Given the description of an element on the screen output the (x, y) to click on. 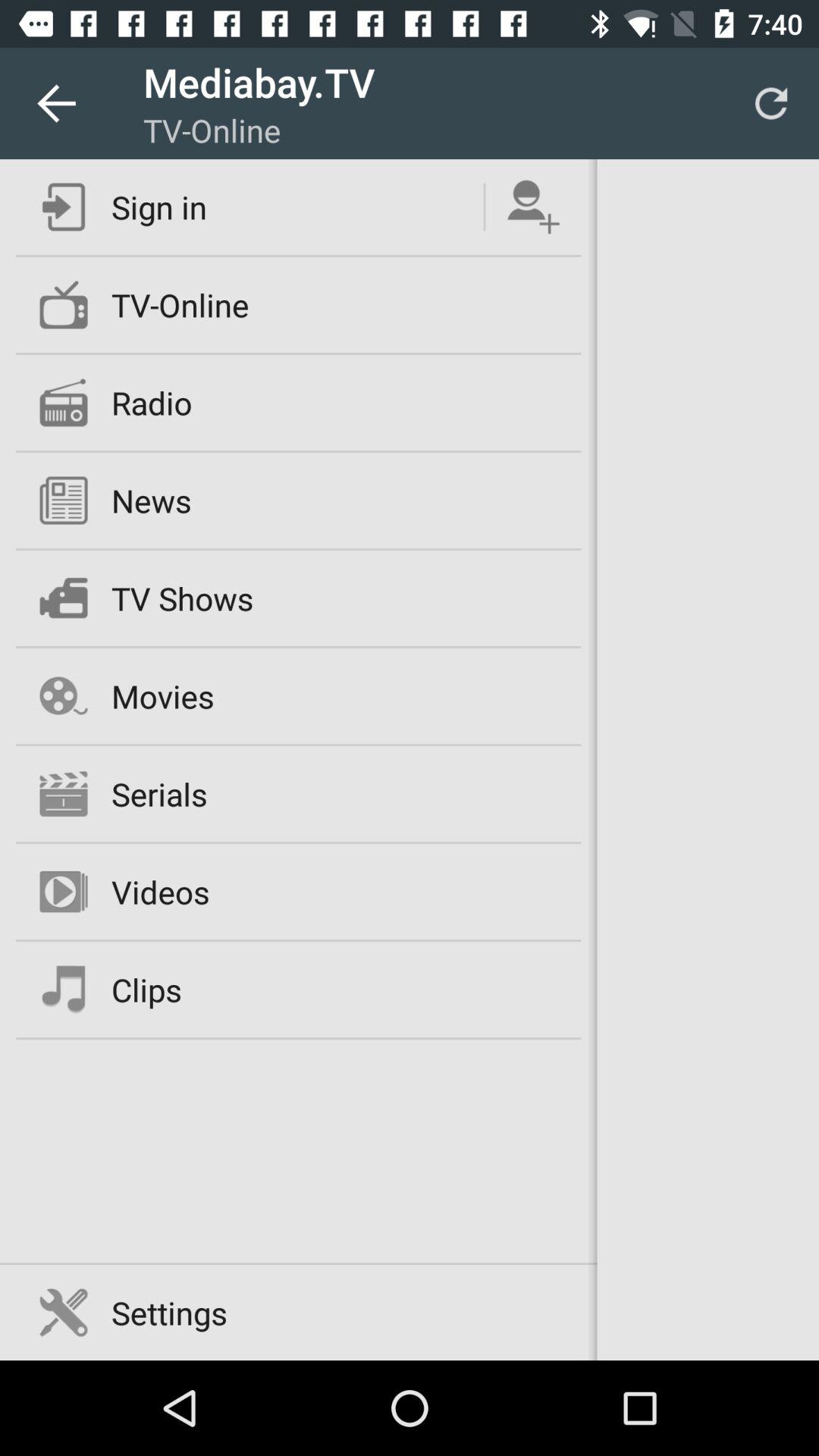
launch the item at the top right corner (771, 103)
